Given the description of an element on the screen output the (x, y) to click on. 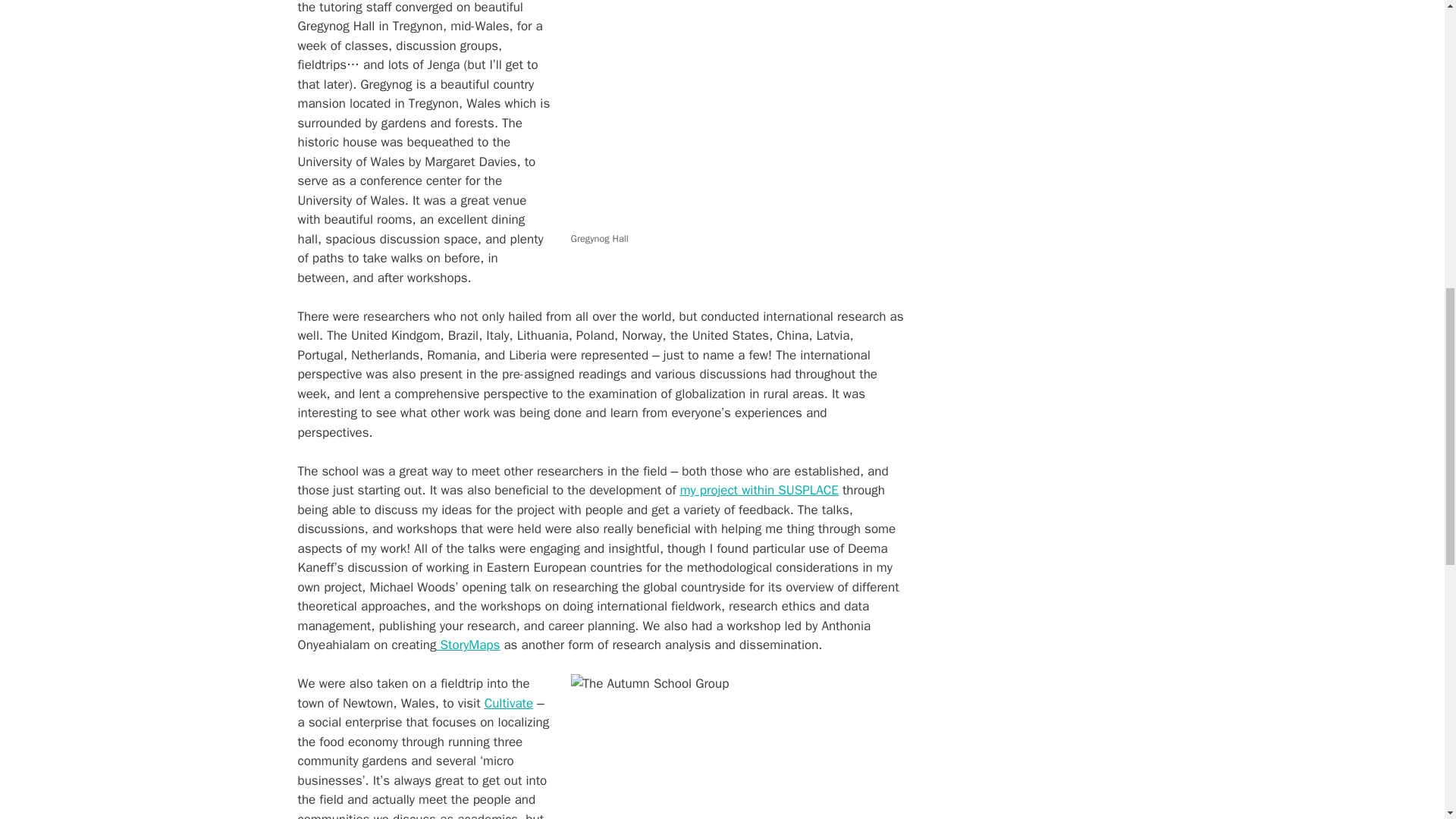
Cultivate (508, 703)
StoryMaps (467, 644)
my project within SUSPLACE (758, 489)
